Given the description of an element on the screen output the (x, y) to click on. 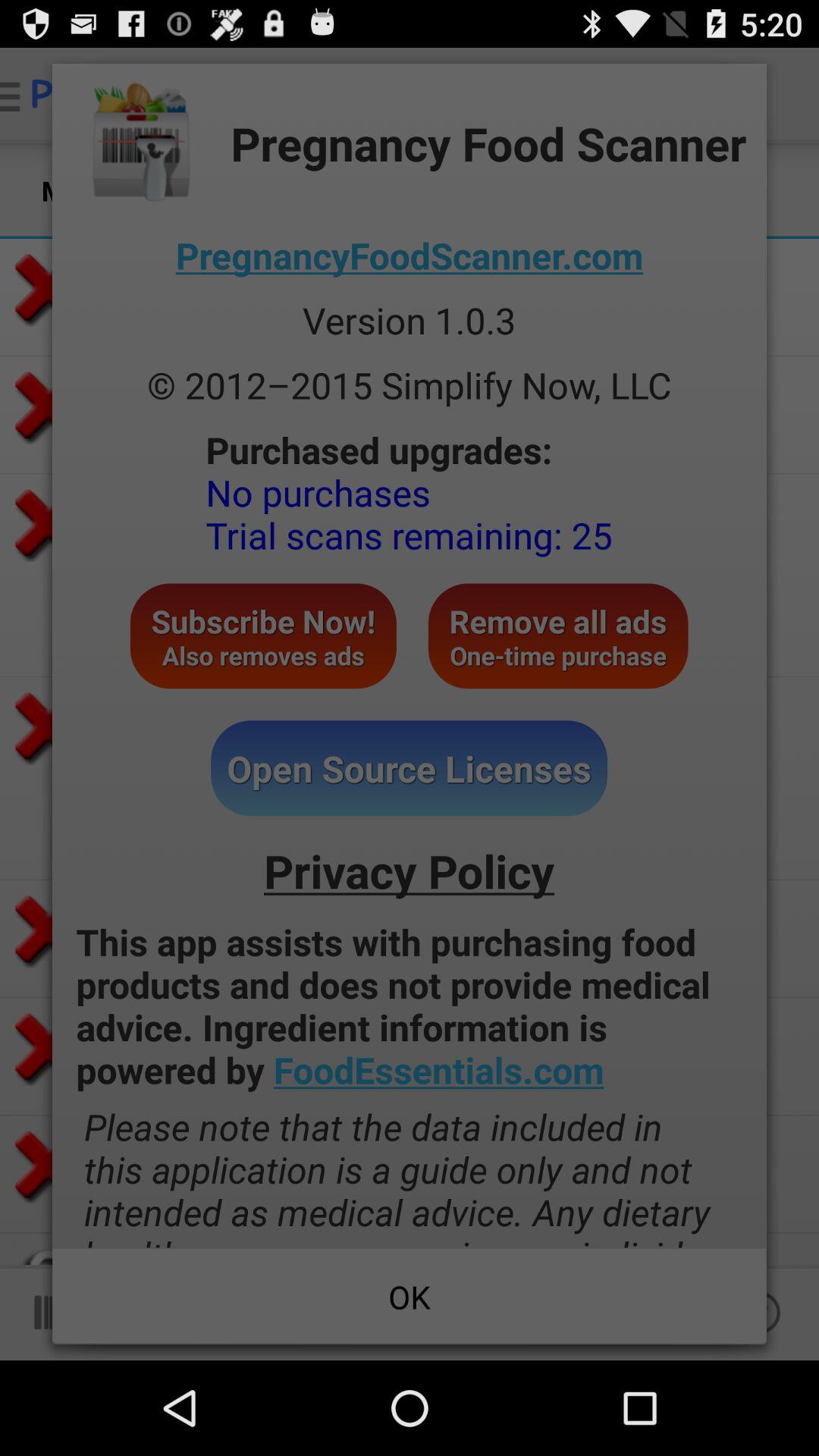
tap app below the purchased upgrades no item (263, 635)
